Given the description of an element on the screen output the (x, y) to click on. 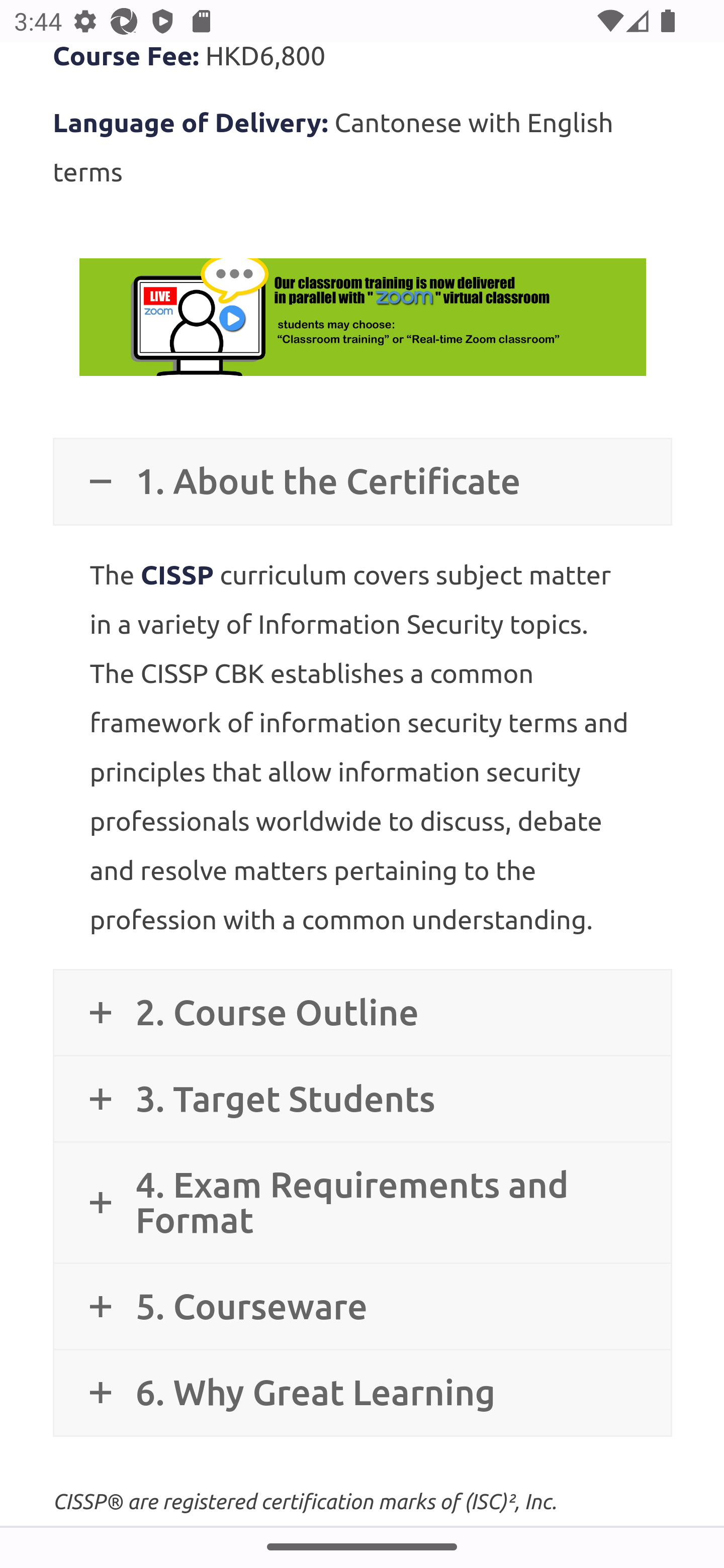
5. Courseware 5. Courseware 5. Courseware (361, 1305)
